Given the description of an element on the screen output the (x, y) to click on. 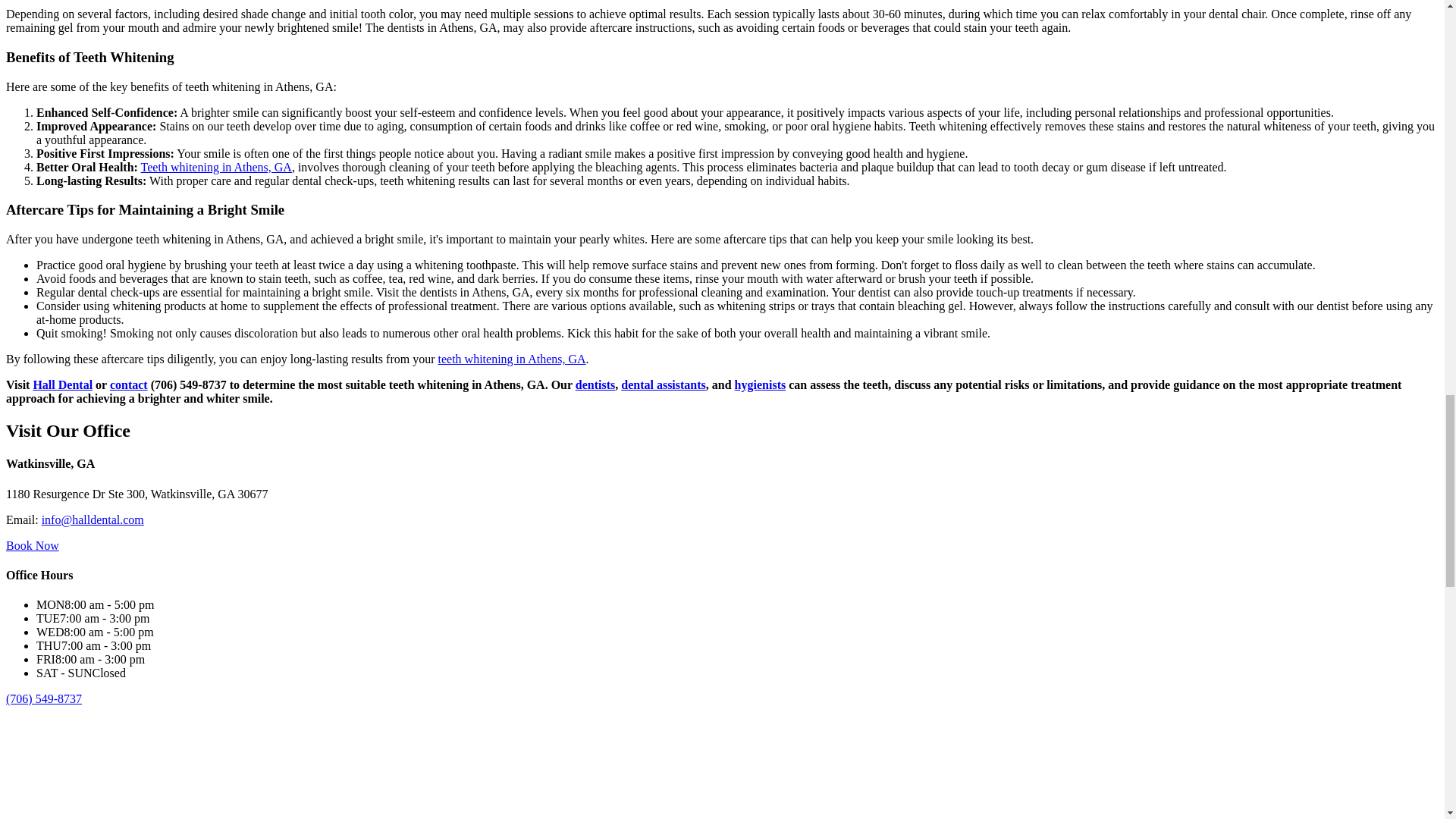
Teeth whitening in Athens, GA (216, 166)
